Given the description of an element on the screen output the (x, y) to click on. 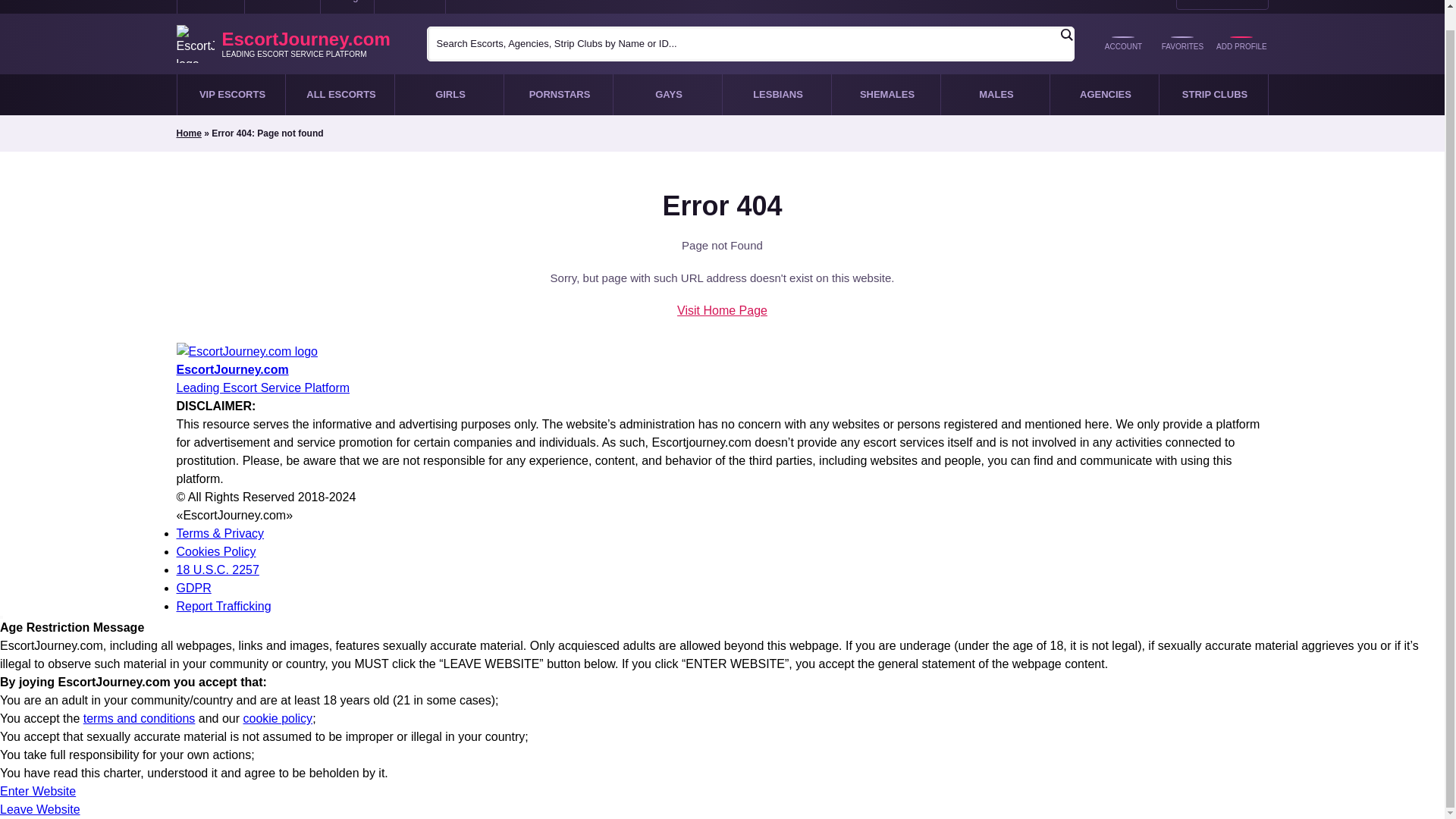
Favorites (1182, 44)
Contact (210, 6)
EscortJourney.com (289, 44)
CURRENCY: USD (1222, 4)
EscortJourney.com (722, 370)
Reviews (409, 6)
Blog (347, 6)
Advertise (282, 6)
Add Profile (1241, 44)
Account (1123, 44)
